Given the description of an element on the screen output the (x, y) to click on. 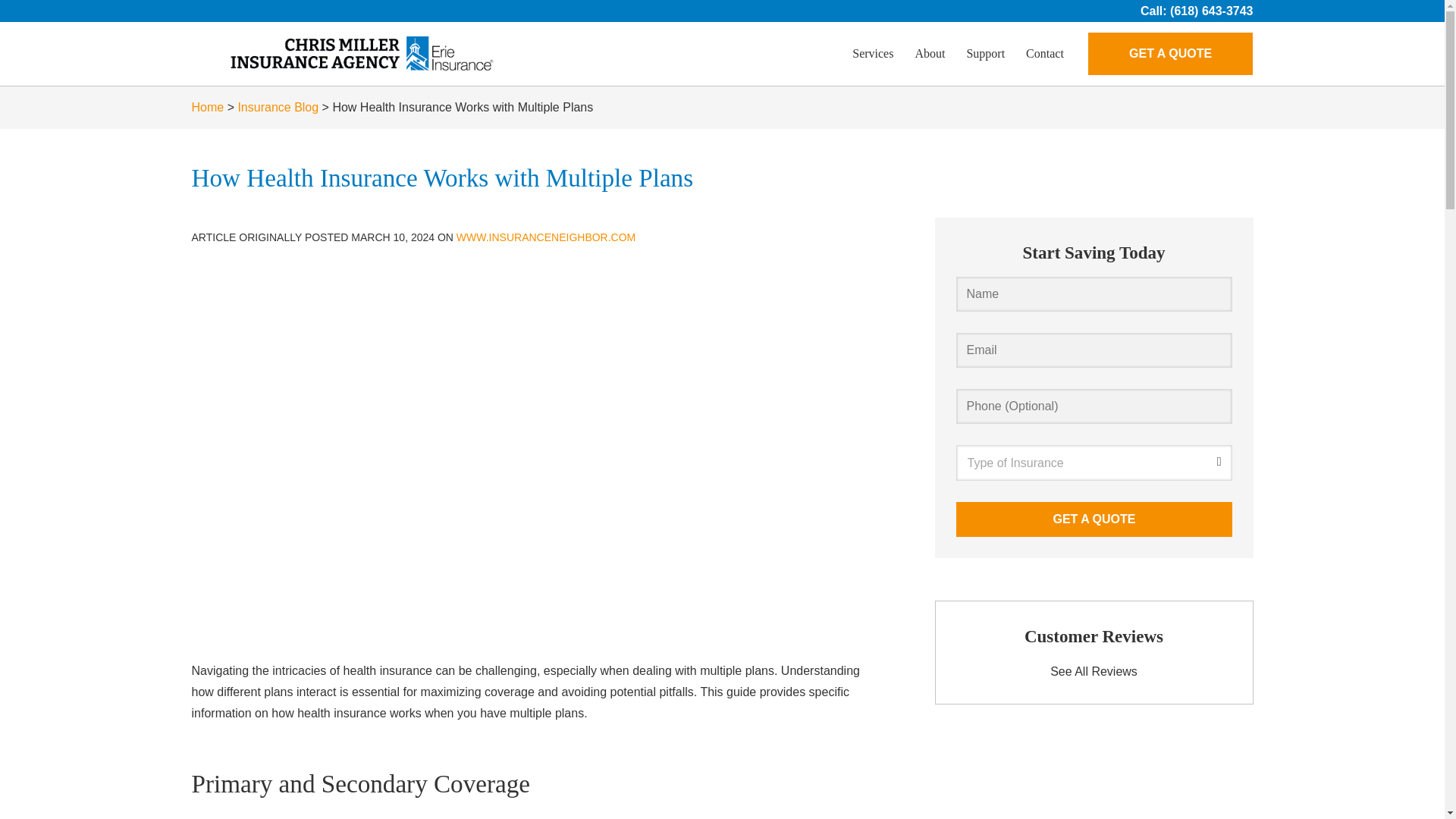
Get A Quote (1093, 519)
About (929, 53)
Support (984, 53)
Services (872, 53)
